Given the description of an element on the screen output the (x, y) to click on. 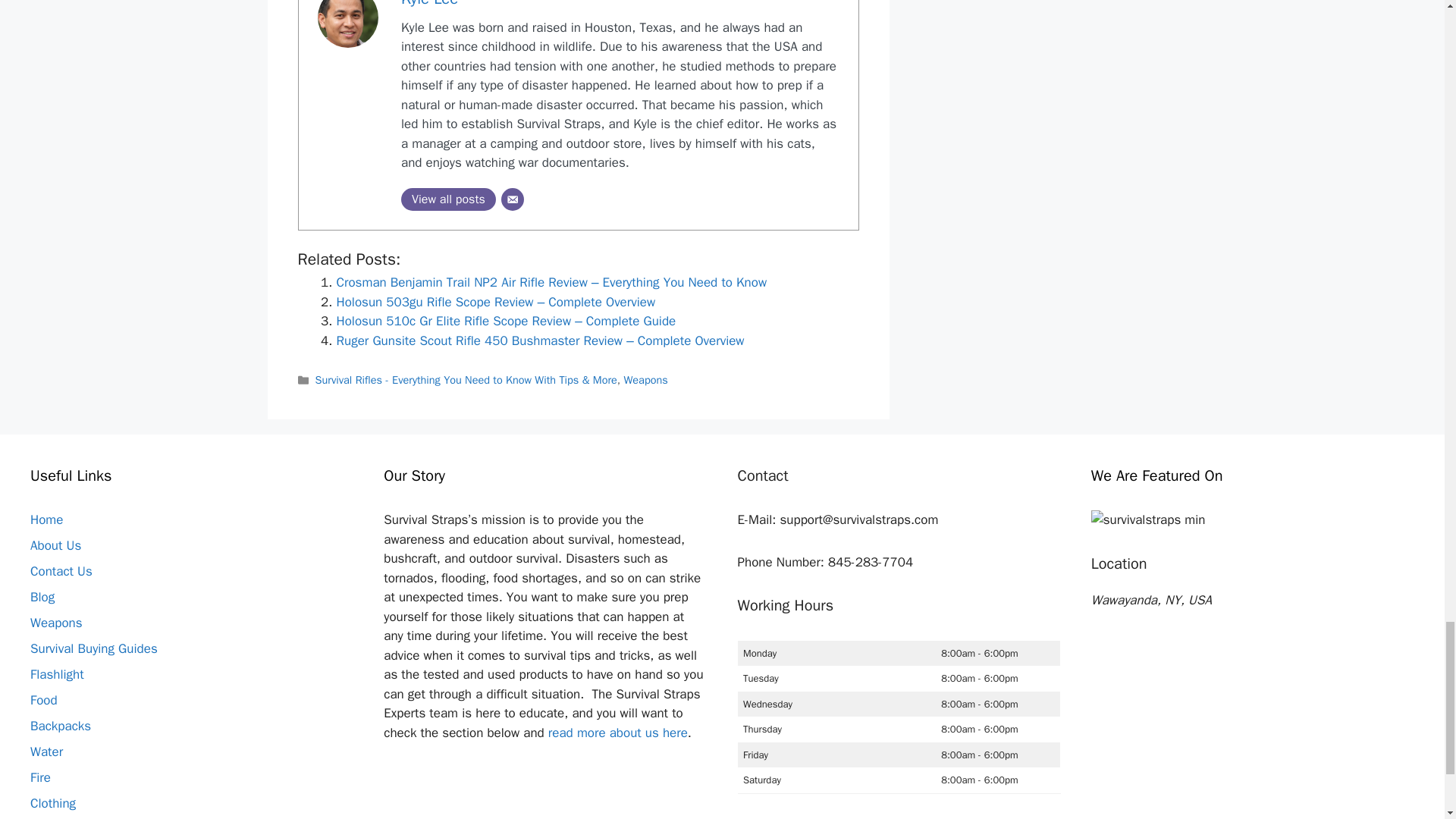
Kyle Lee (429, 4)
Kyle Lee (429, 4)
View all posts (448, 199)
View all posts (448, 199)
Weapons (644, 379)
